Given the description of an element on the screen output the (x, y) to click on. 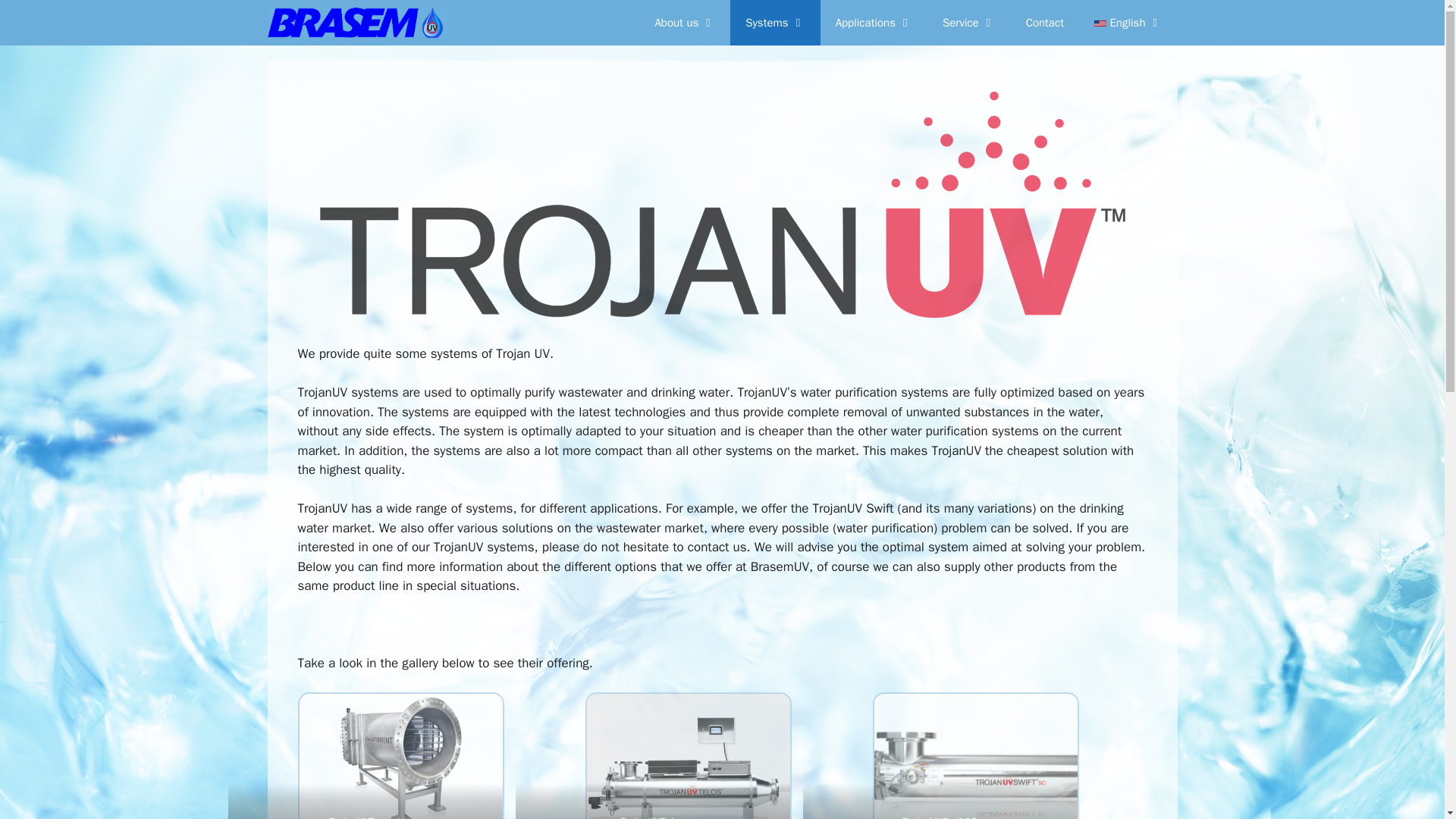
Service (968, 22)
TrojanUV Logo (722, 314)
TrojanUVTelos (688, 756)
TrojanUVSwiftSC (975, 756)
Brasem UV (357, 22)
Brasem UV (361, 22)
Applications (874, 22)
 English (1127, 22)
Contact (1044, 22)
About us (684, 22)
Systems (774, 22)
TrojanUVTorrent (400, 756)
Search (33, 17)
